Given the description of an element on the screen output the (x, y) to click on. 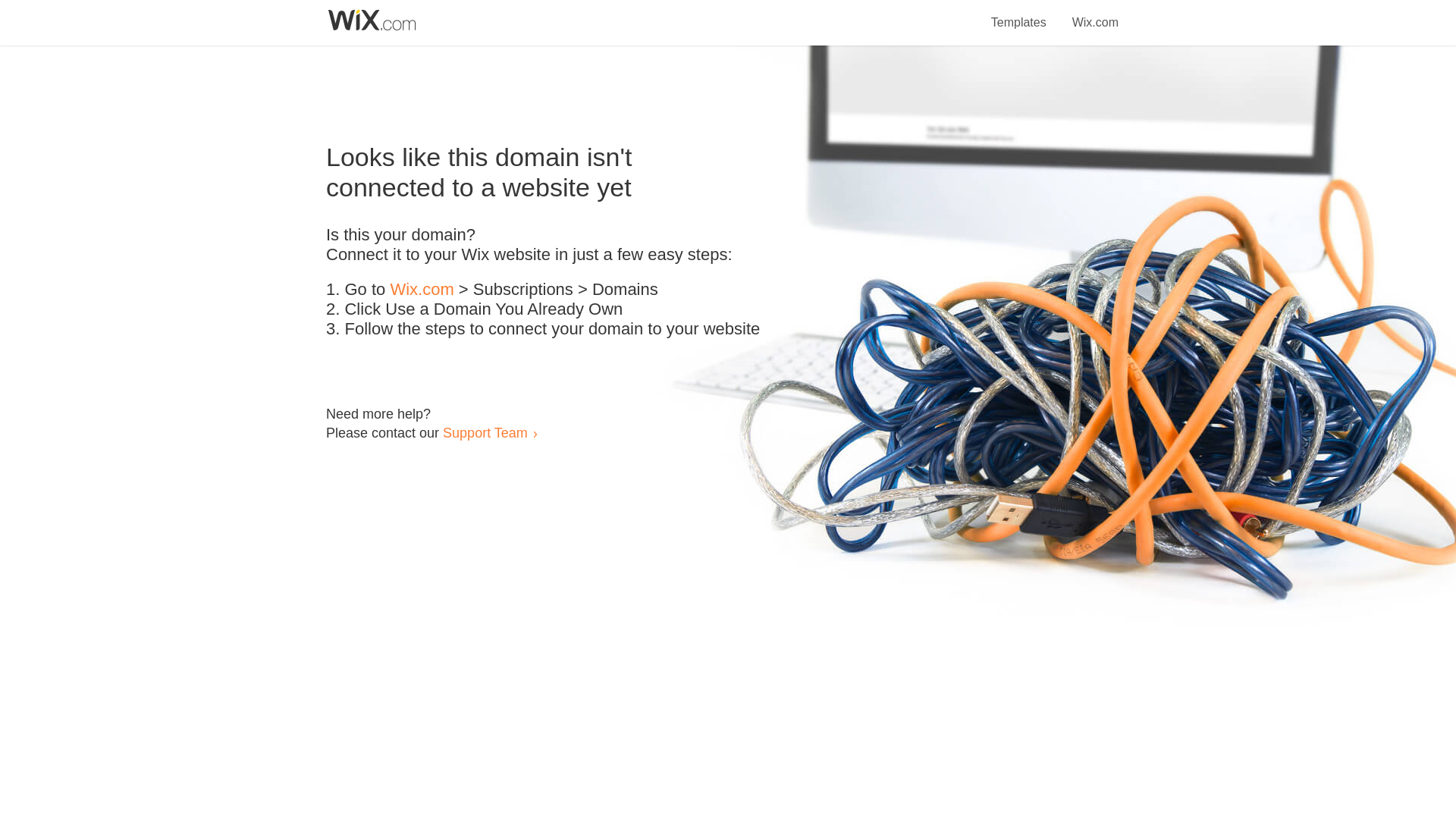
Wix.com (1095, 14)
Support Team (484, 432)
Templates (1018, 14)
Wix.com (421, 289)
